Given the description of an element on the screen output the (x, y) to click on. 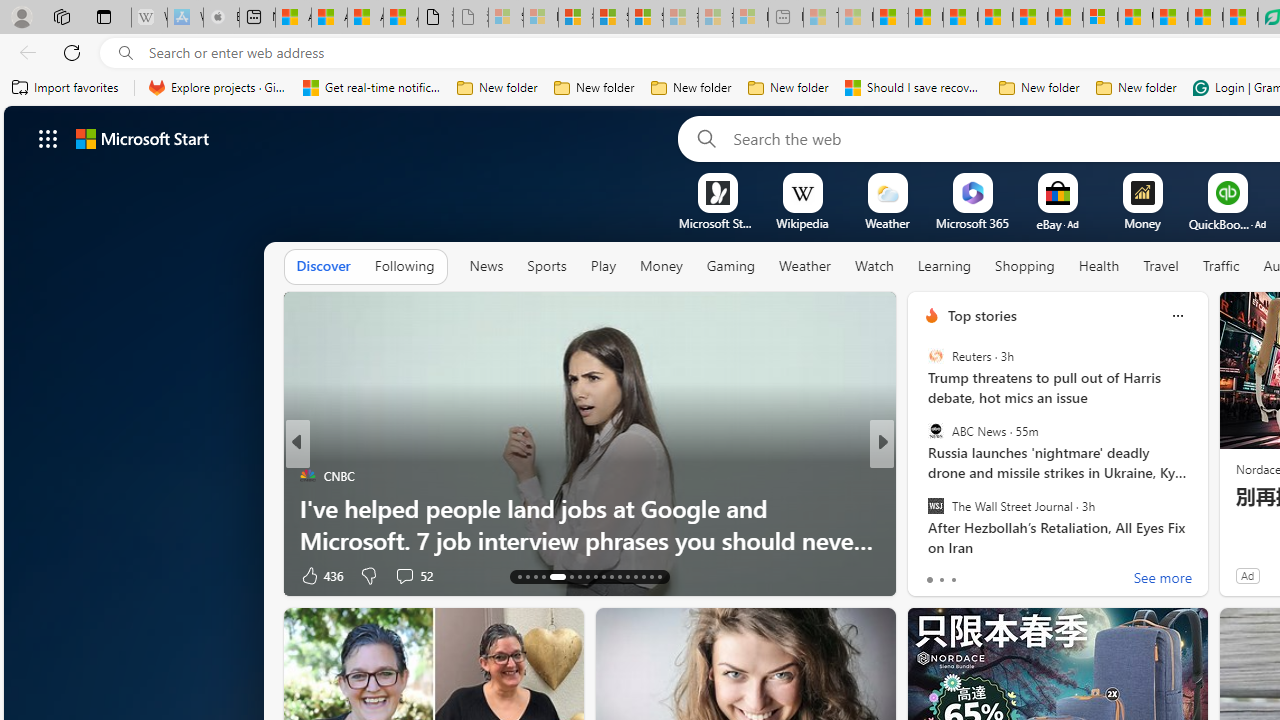
641 Like (936, 574)
Aberdeen, Hong Kong SAR weather forecast | Microsoft Weather (329, 17)
Should I save recovered Word documents? - Microsoft Support (913, 88)
Top stories (982, 315)
View comments 325 Comment (1032, 574)
AutomationID: tab-25 (627, 576)
View comments 70 Comment (1019, 575)
20 Like (934, 574)
AutomationID: tab-21 (595, 576)
